Given the description of an element on the screen output the (x, y) to click on. 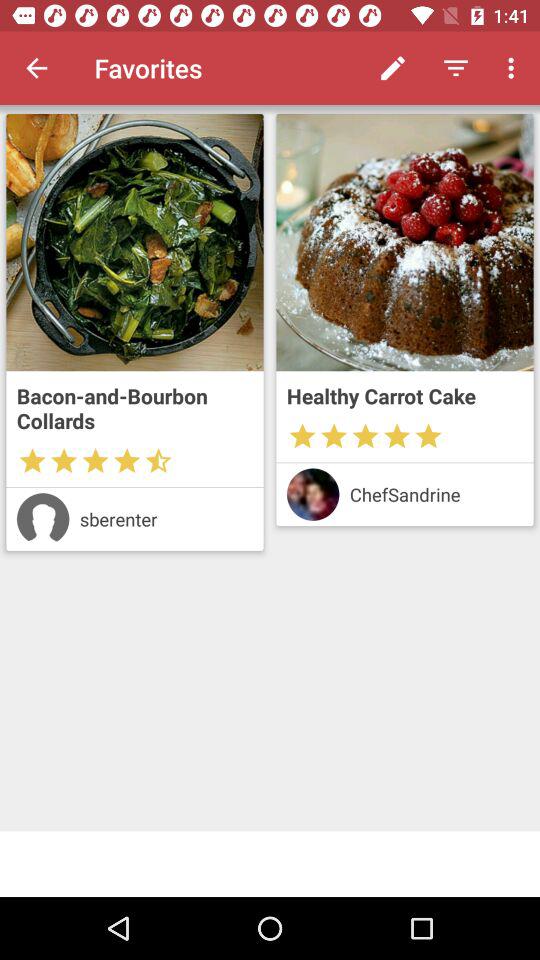
launch the sberenter (166, 518)
